Given the description of an element on the screen output the (x, y) to click on. 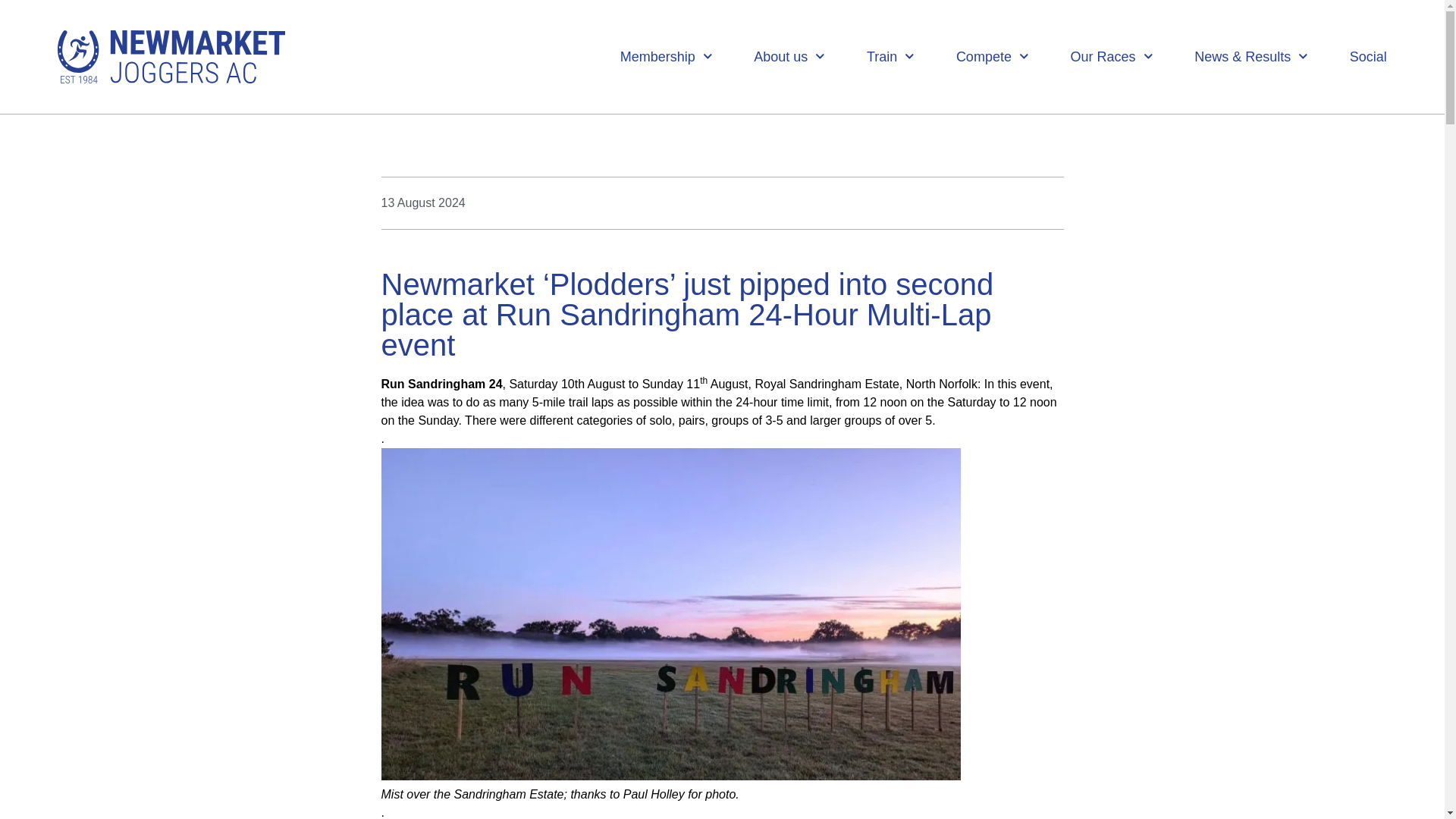
Compete (992, 56)
Train (890, 56)
About us (789, 56)
Membership (666, 56)
Our Races (1111, 56)
Social (1368, 56)
